Given the description of an element on the screen output the (x, y) to click on. 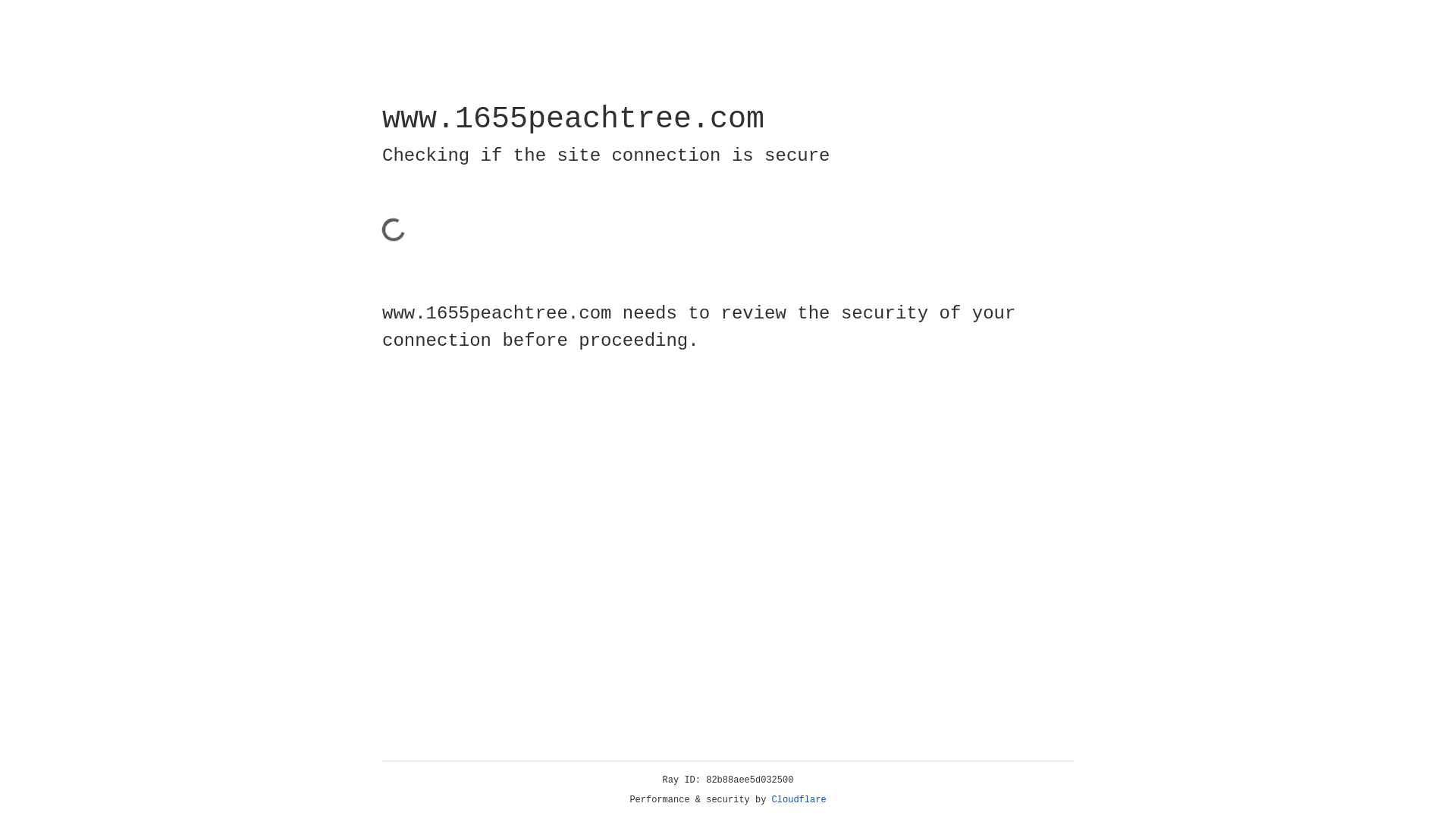
Cloudflare Element type: text (798, 799)
